Given the description of an element on the screen output the (x, y) to click on. 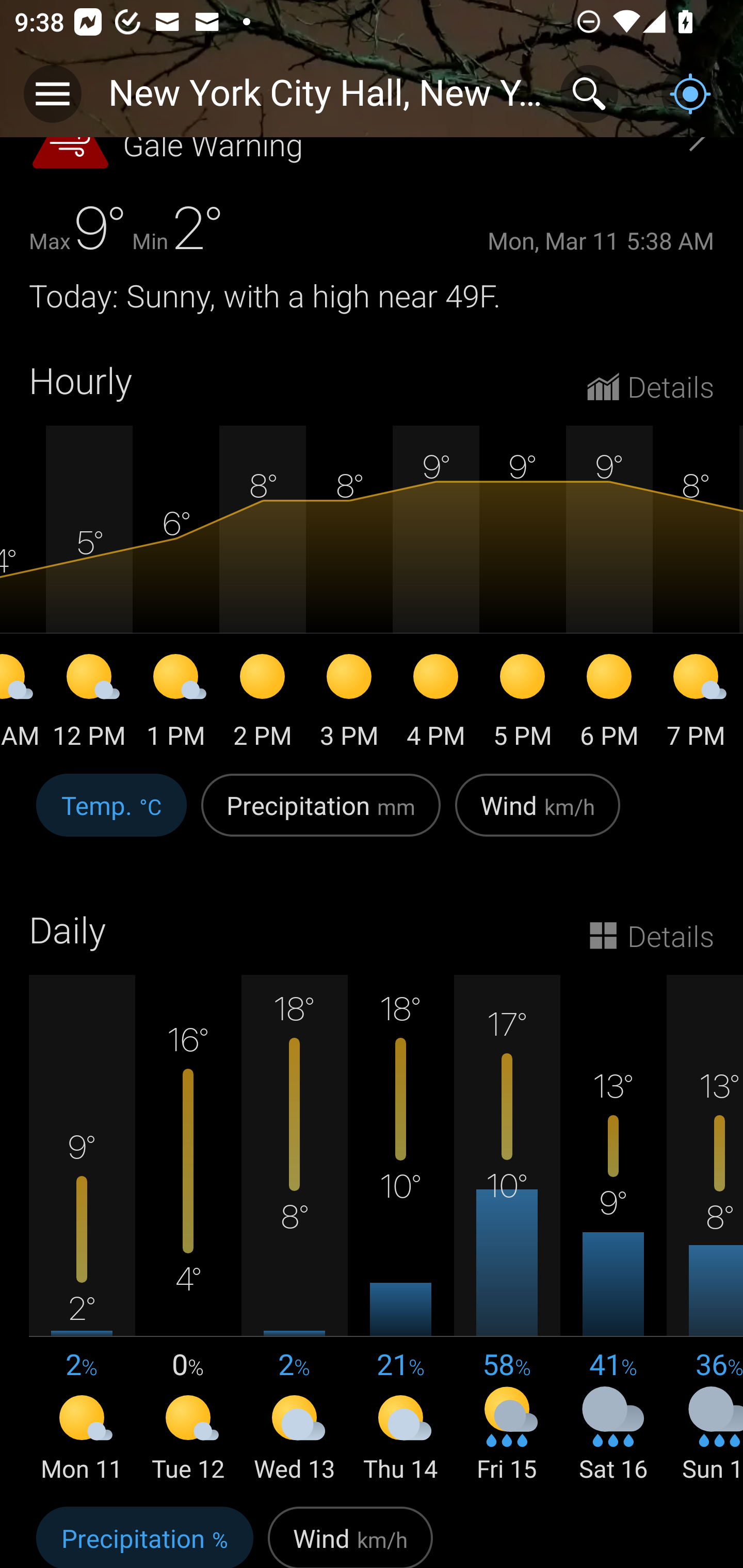
11 AM (23, 704)
12 PM (89, 704)
1 PM (175, 704)
2 PM (262, 704)
3 PM (349, 704)
4 PM (435, 704)
5 PM (522, 704)
6 PM (609, 704)
7 PM (695, 704)
Temp. °C (110, 815)
Precipitation mm (320, 815)
Wind km/h (537, 815)
9° 2° 2 % Mon 11 (81, 1229)
16° 4° 0 % Tue 12 (188, 1229)
18° 8° 2 % Wed 13 (294, 1229)
18° 10° 21 % Thu 14 (400, 1229)
17° 10° 58 % Fri 15 (506, 1229)
13° 9° 41 % Sat 16 (613, 1229)
13° 8° 36 % Sun 17 (704, 1229)
Precipitation % (144, 1533)
Wind km/h (349, 1533)
